Given the description of an element on the screen output the (x, y) to click on. 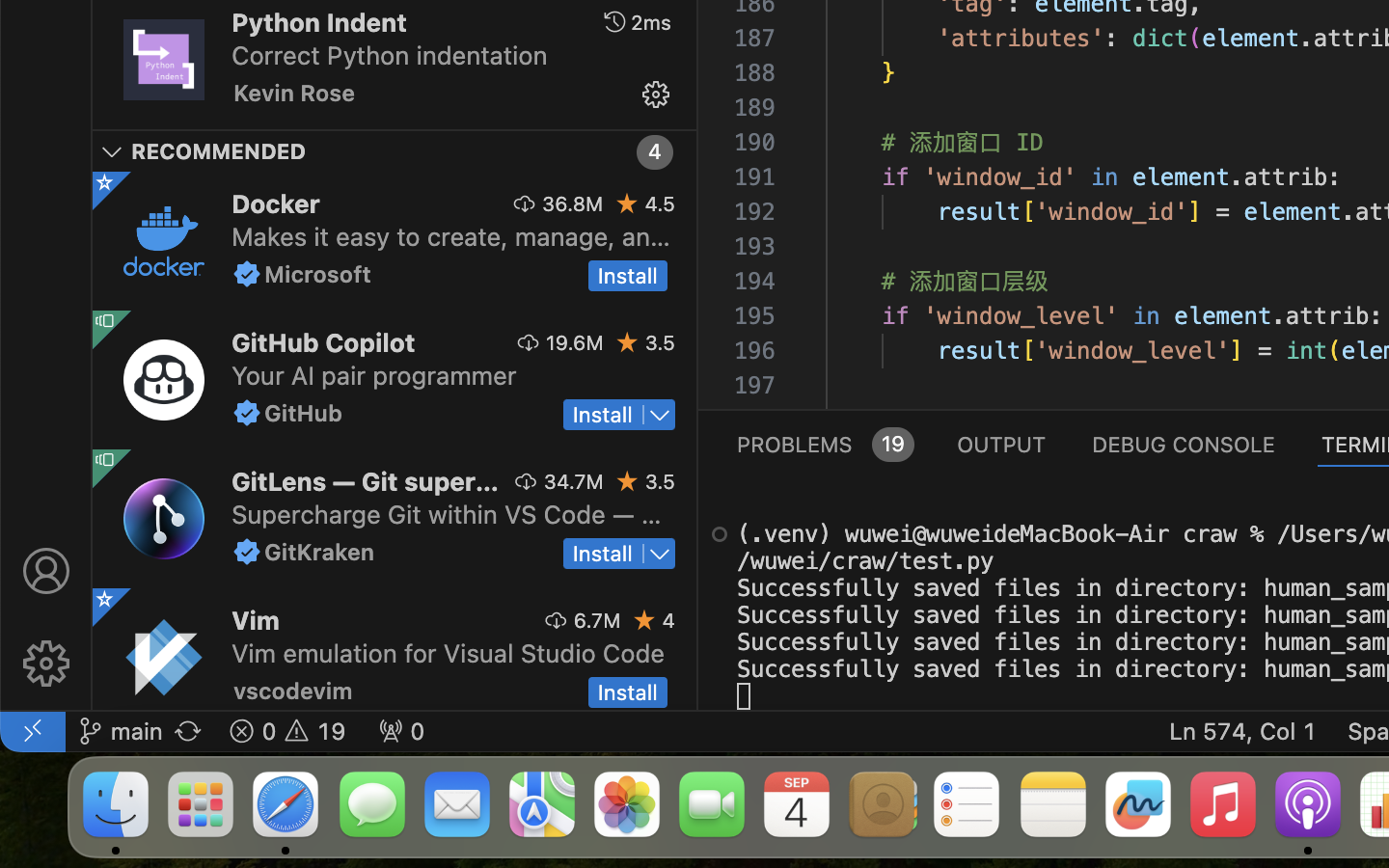
 Element type: AXStaticText (246, 273)
19.6M Element type: AXStaticText (574, 341)
19 0   Element type: AXButton (286, 730)
 Element type: AXStaticText (613, 21)
 Element type: AXStaticText (104, 181)
